Given the description of an element on the screen output the (x, y) to click on. 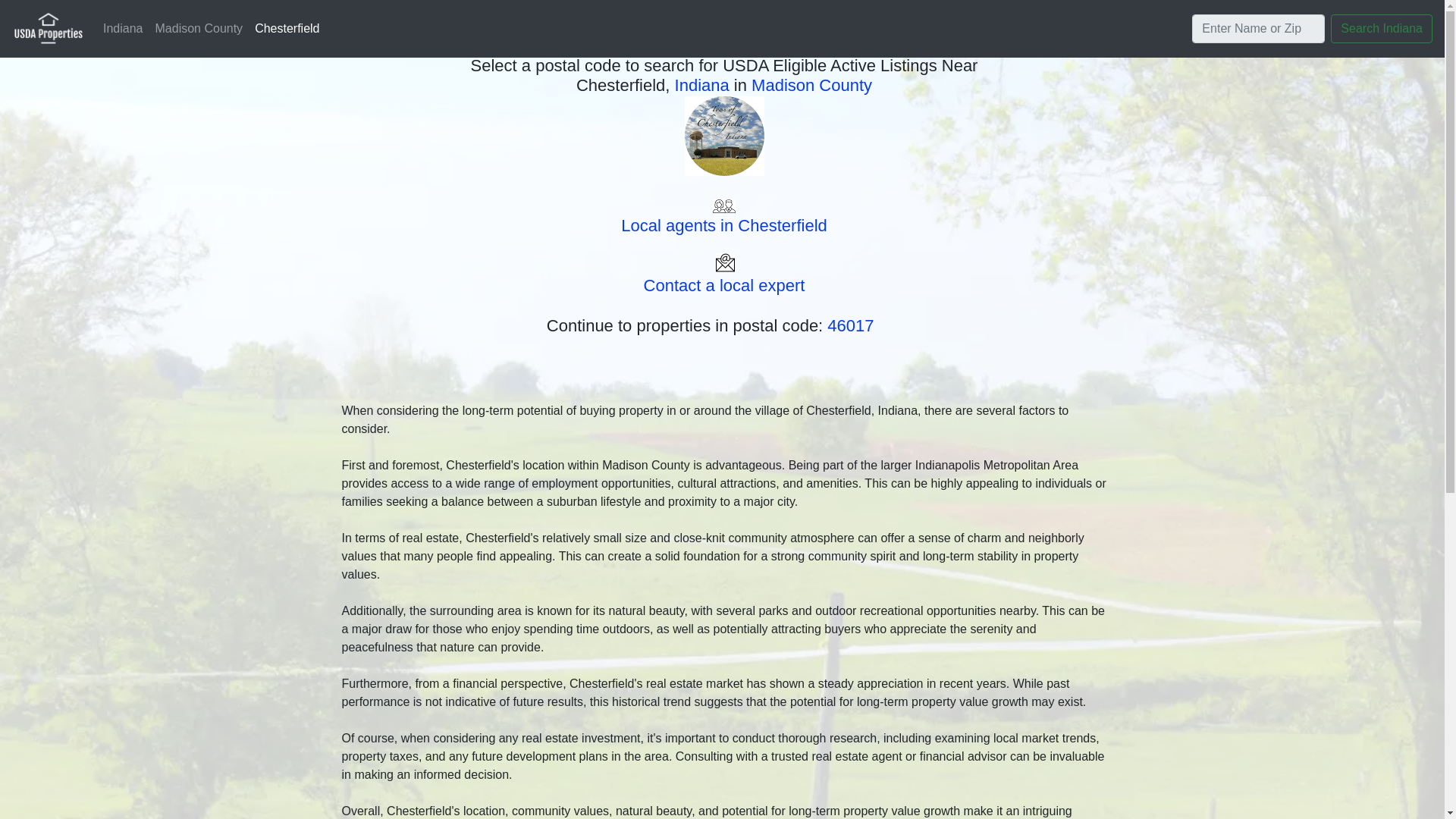
Madison County (811, 85)
Madison County (198, 28)
View Madison County Data (811, 85)
Search Indiana (1381, 28)
Local agents in Chesterfield (724, 214)
Chesterfield (286, 28)
Indiana (123, 28)
Contact a local expert (724, 274)
View a list of realtors working in Chesterfield (724, 214)
Contact USDAProperties Agent (724, 274)
